Given the description of an element on the screen output the (x, y) to click on. 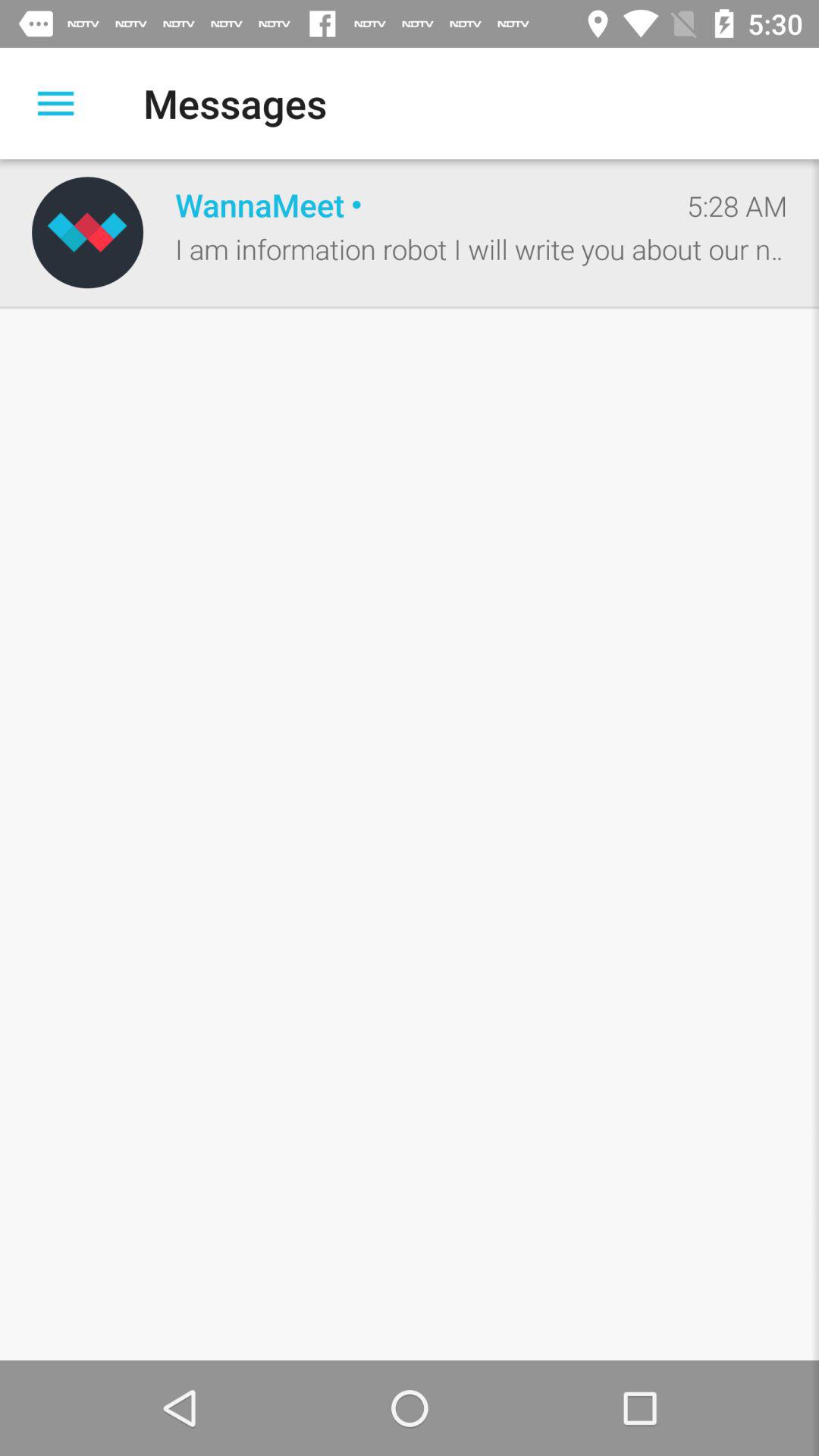
go to menu (55, 103)
